Given the description of an element on the screen output the (x, y) to click on. 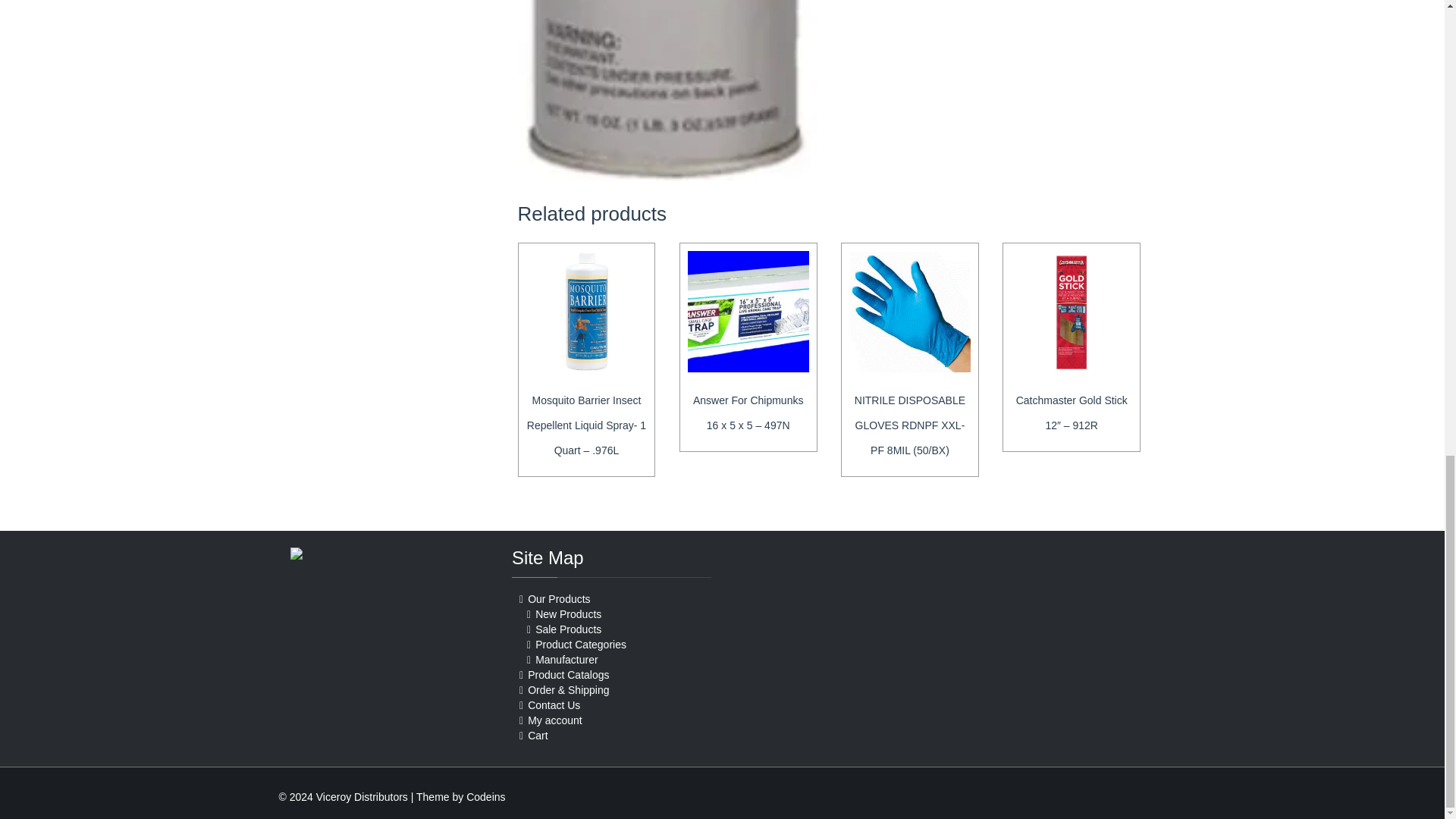
New Products (568, 613)
Cart (537, 735)
My account (554, 720)
Our Products (558, 598)
Product Categories (580, 644)
Codeins (485, 797)
Product Catalogs (567, 674)
M123 Misty Coil Cleaning Foam (666, 90)
Manufacturer (565, 659)
Contact Us (553, 705)
Sale Products (568, 629)
